Given the description of an element on the screen output the (x, y) to click on. 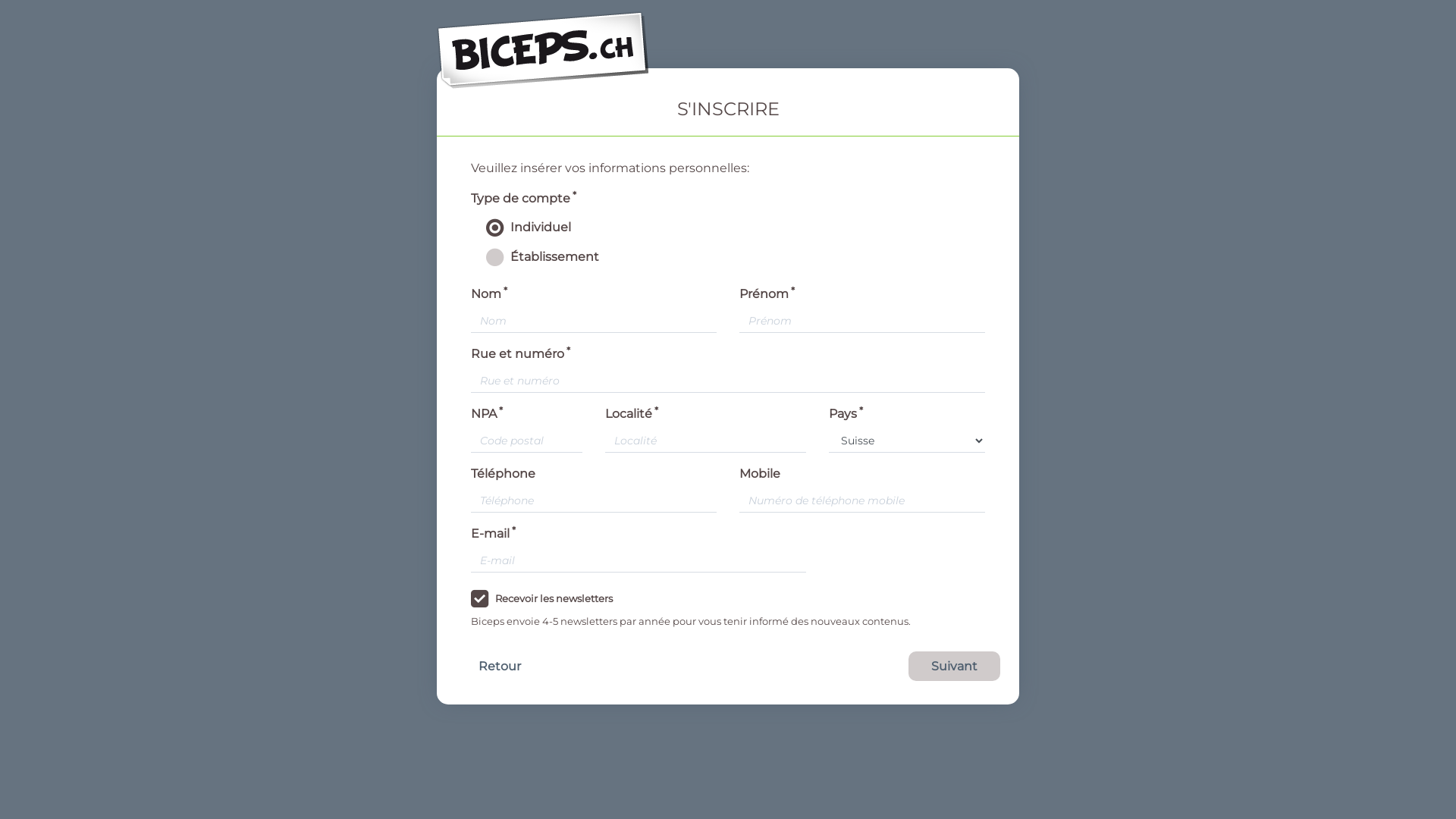
Retour Element type: text (499, 665)
